Given the description of an element on the screen output the (x, y) to click on. 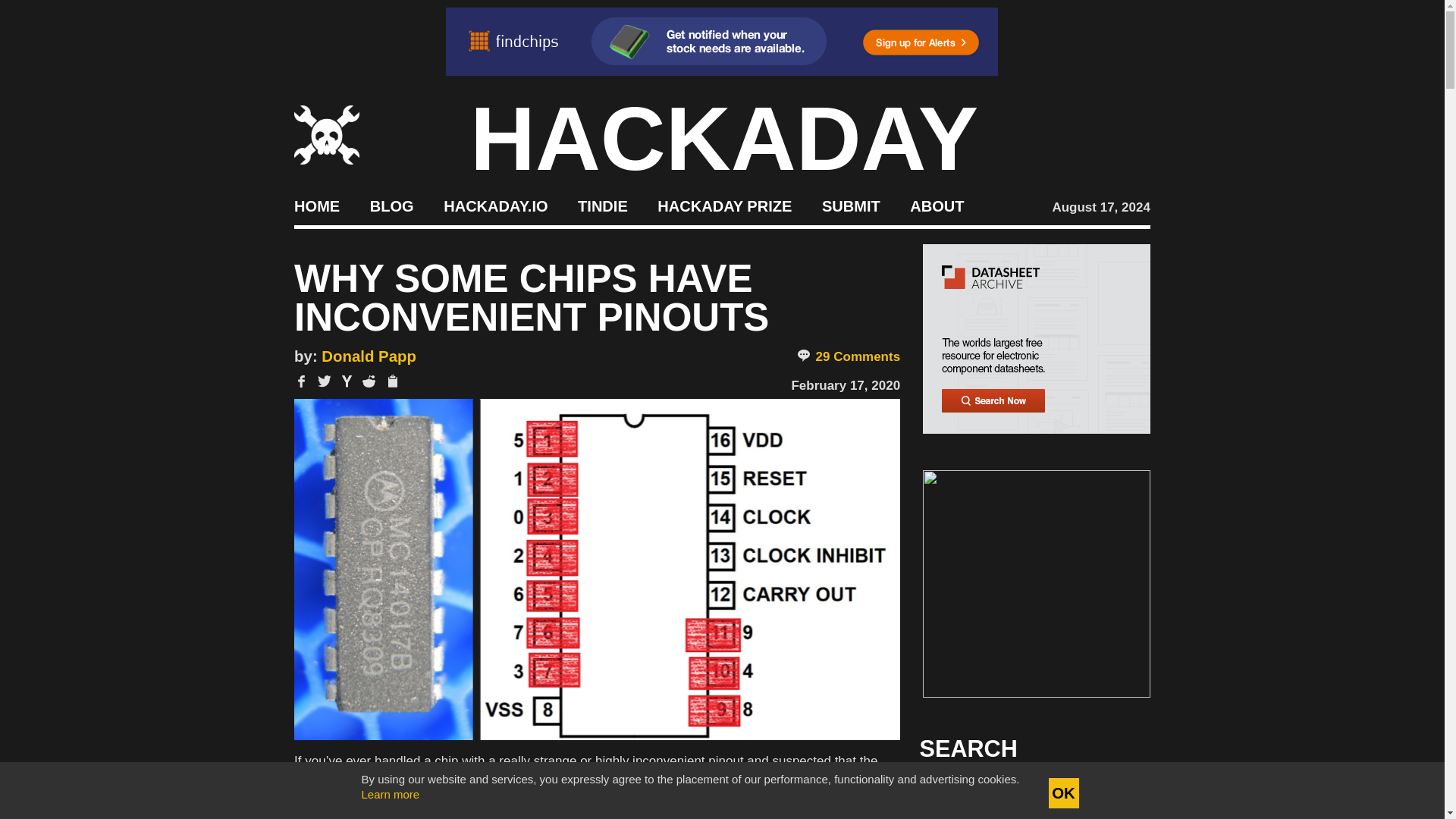
HACKADAY (724, 138)
SUBMIT (851, 205)
Share on Reddit (369, 381)
HACKADAY.IO (495, 205)
ABOUT (936, 205)
29 Comments (847, 356)
Donald Papp (368, 356)
Build Something that Matters (725, 205)
TINDIE (602, 205)
HOME (316, 205)
